Given the description of an element on the screen output the (x, y) to click on. 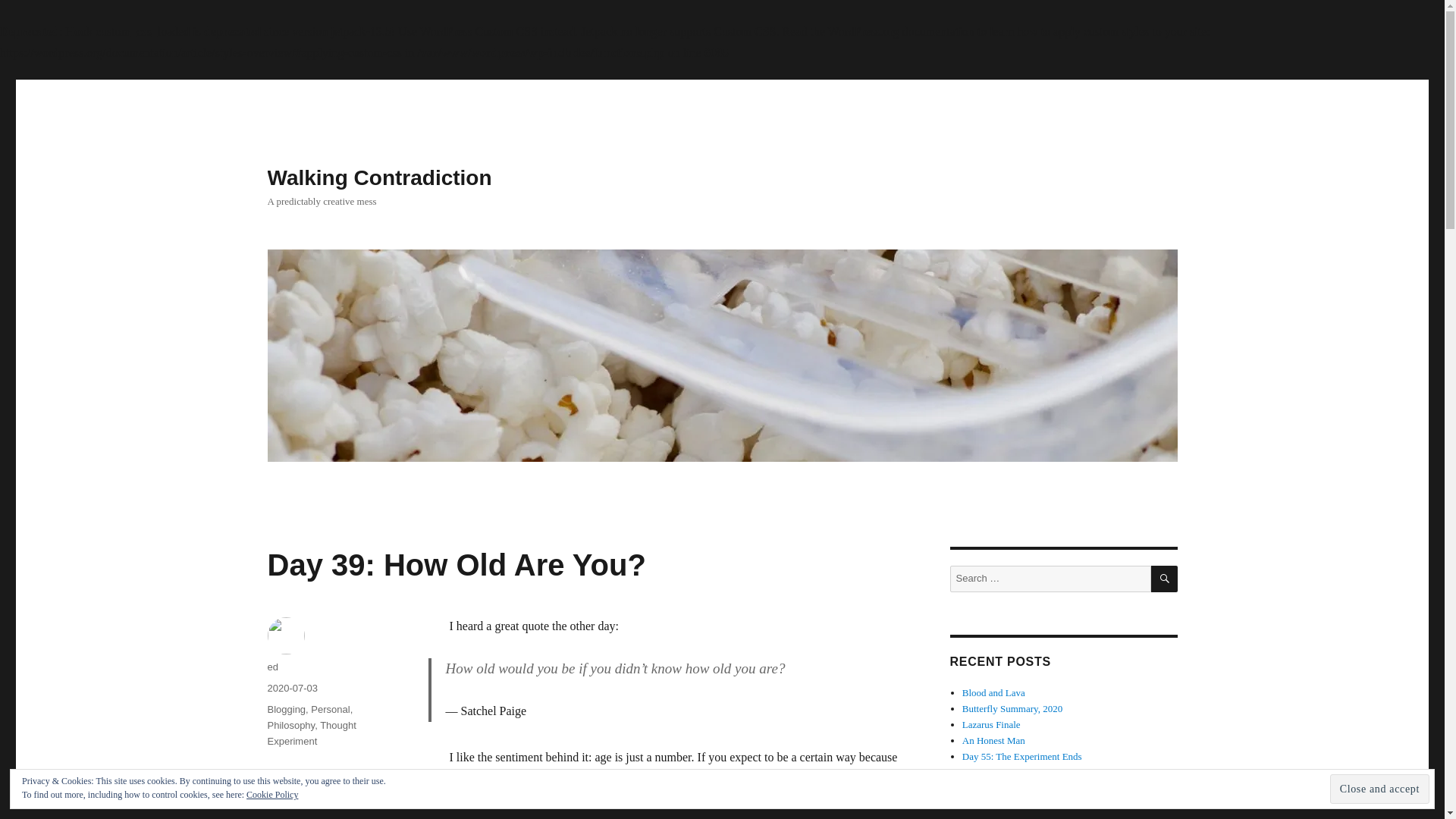
Blogging (285, 708)
Blood and Lava (993, 692)
Thought Experiment (310, 732)
ed (272, 666)
Walking Contradiction (379, 177)
Personal (330, 708)
SEARCH (1164, 578)
Lazarus Finale (991, 724)
An Honest Man (993, 740)
Butterfly Summary, 2020 (1012, 708)
